Given the description of an element on the screen output the (x, y) to click on. 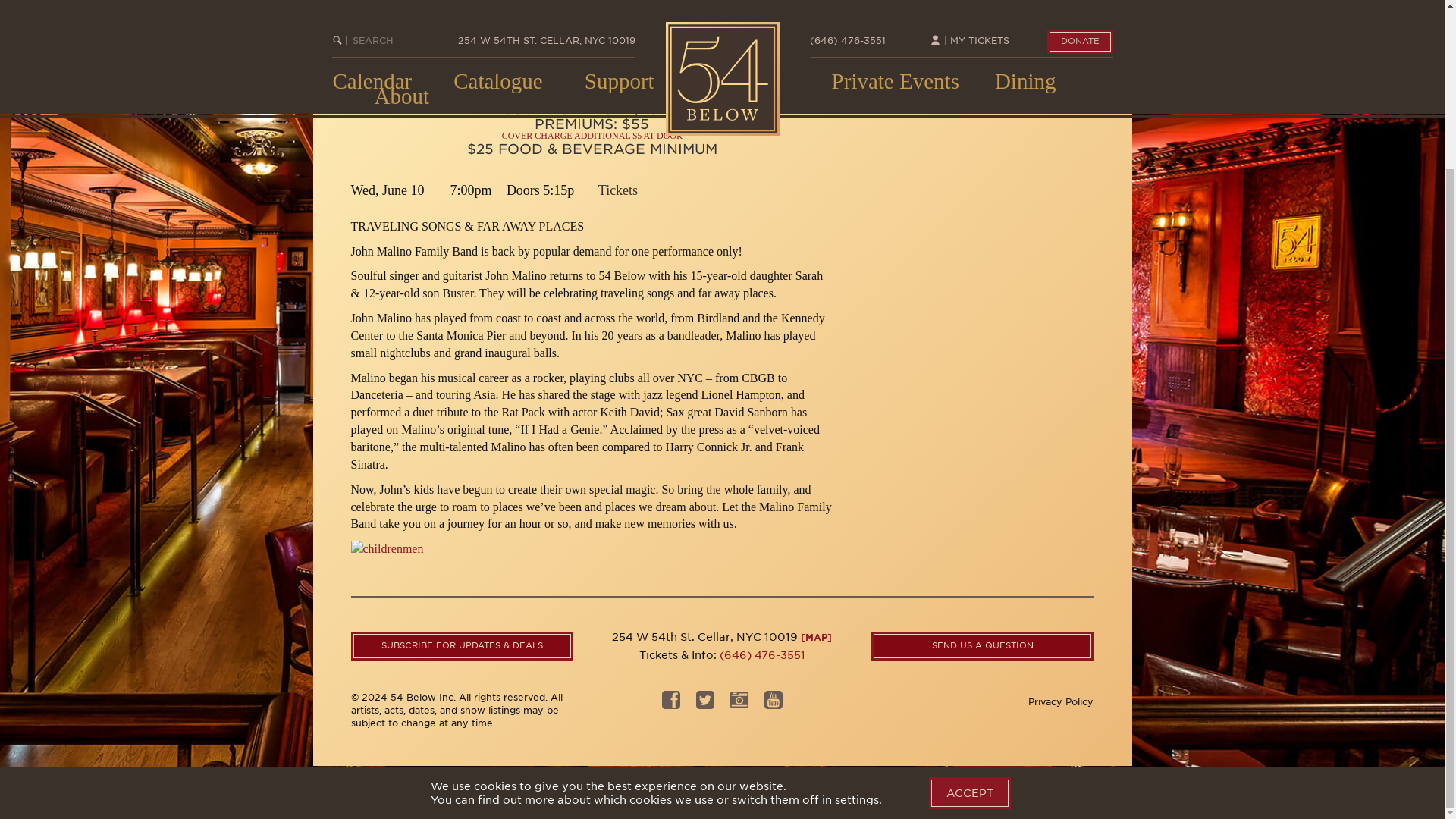
54Below on Facebook (670, 703)
54Below on Instagram (739, 703)
54Below on Instagram (773, 703)
54Below on Twitter (704, 703)
